Given the description of an element on the screen output the (x, y) to click on. 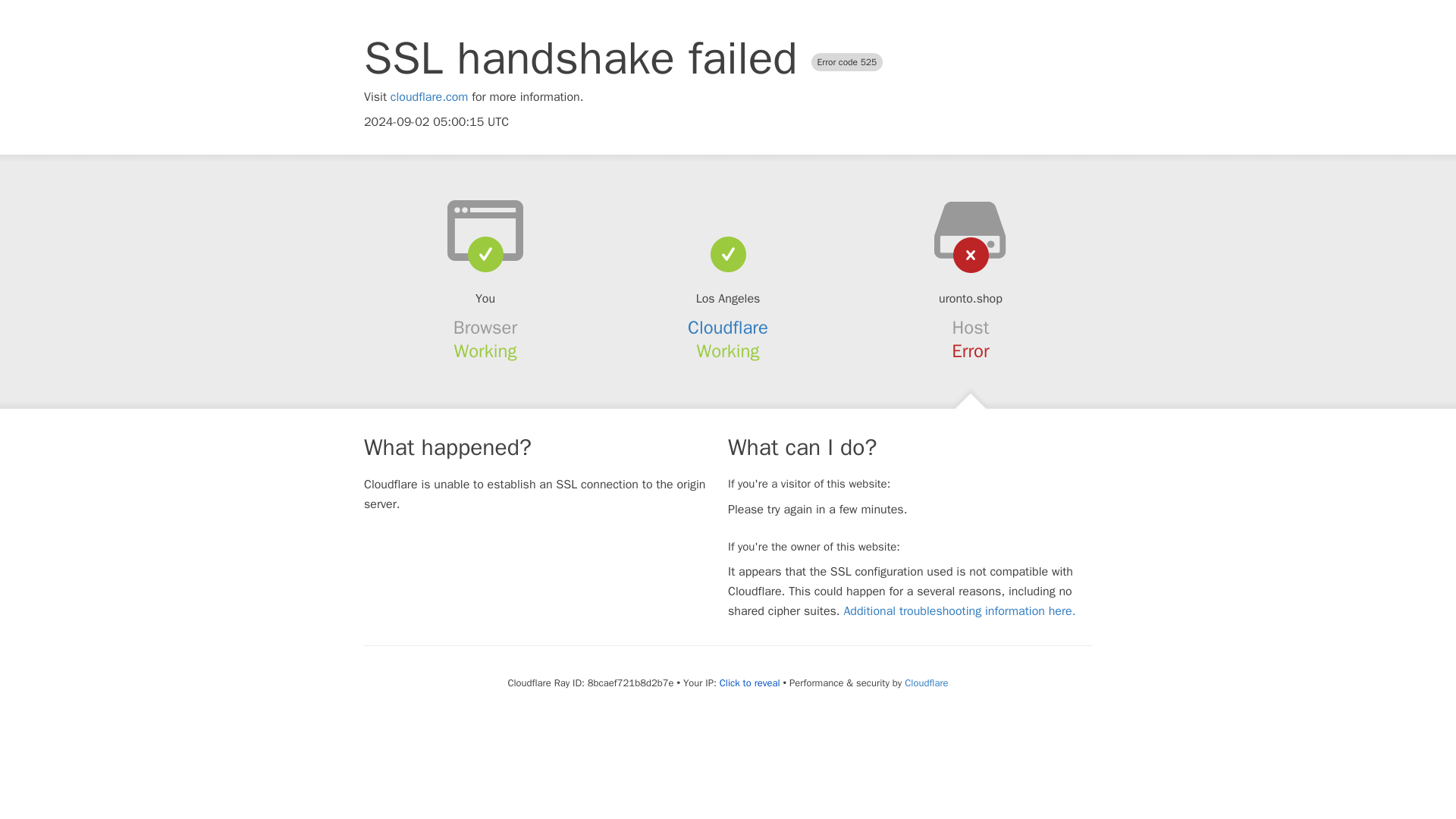
Additional troubleshooting information here. (959, 611)
Cloudflare (727, 327)
Click to reveal (749, 683)
Cloudflare (925, 682)
cloudflare.com (429, 96)
